Given the description of an element on the screen output the (x, y) to click on. 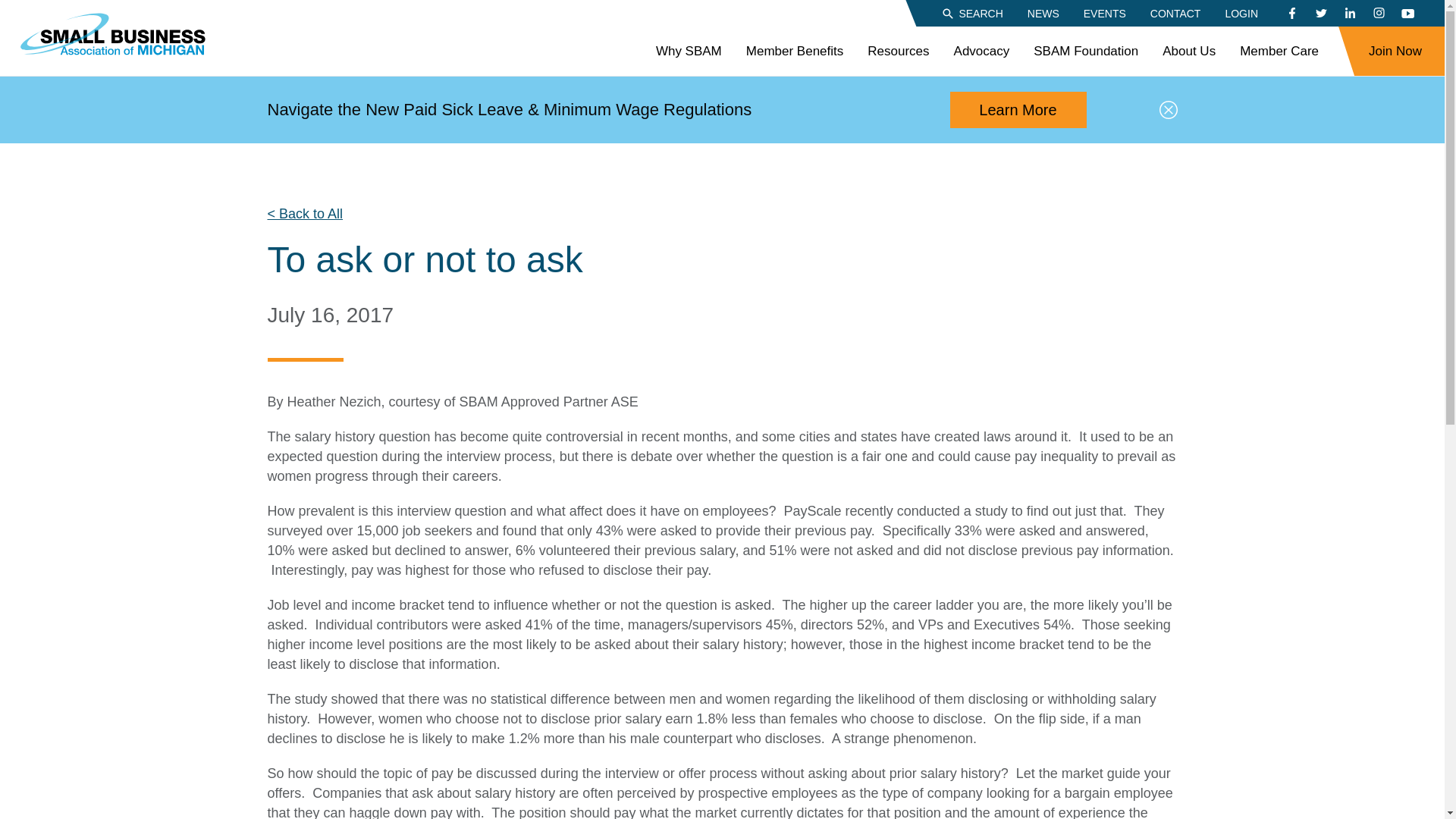
Why SBAM (688, 51)
Member Benefits (794, 51)
INSTAGRAM (1378, 13)
CONTACT (1175, 12)
LINKEDIN (1349, 13)
YOUTUBE (1407, 13)
LOGIN (1241, 12)
NEWS (1043, 12)
SEARCH (971, 12)
EVENTS (1104, 12)
